Given the description of an element on the screen output the (x, y) to click on. 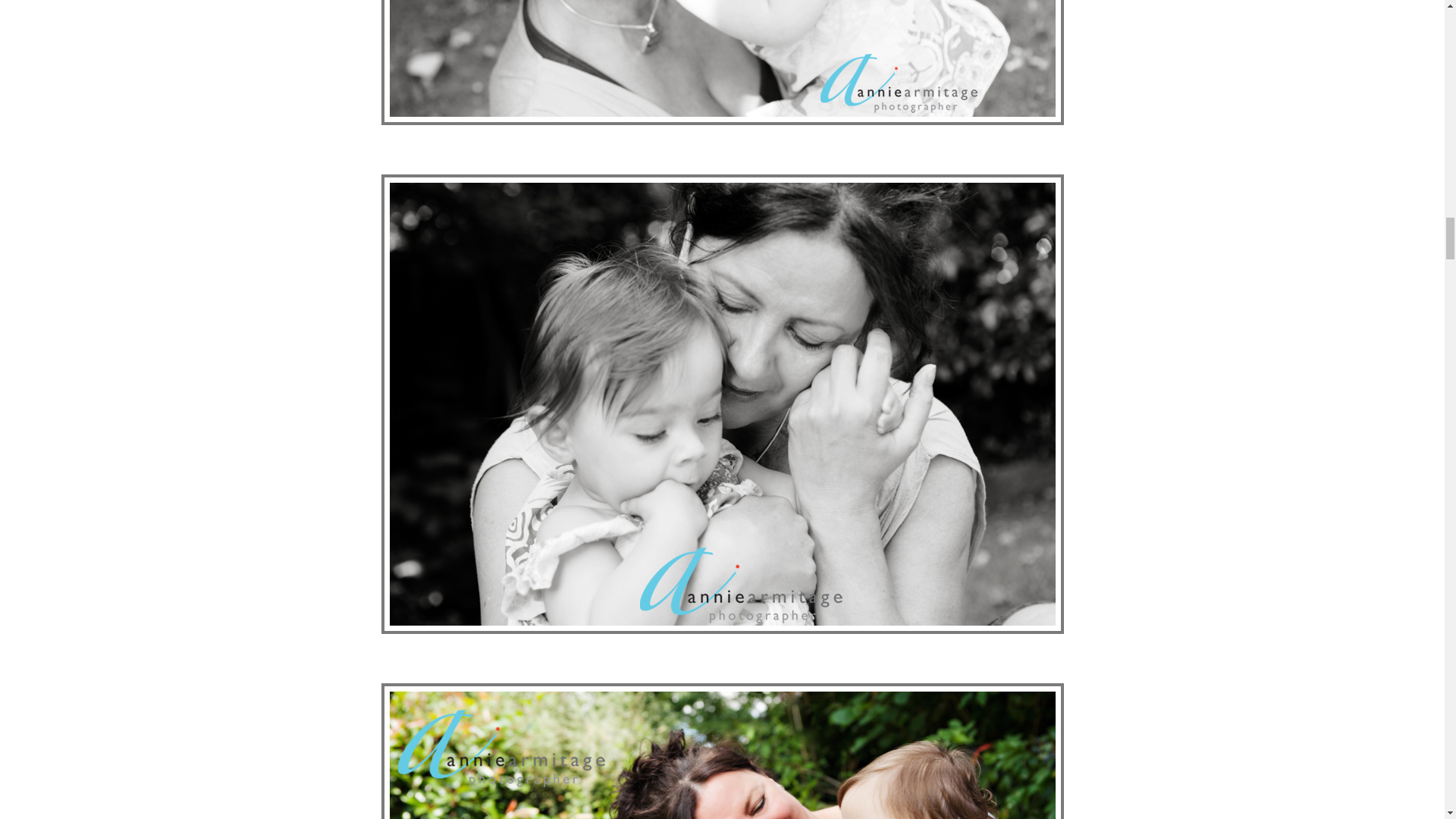
Family photography session in Twickenham (721, 62)
Family photography session in Twickenham (721, 751)
